Given the description of an element on the screen output the (x, y) to click on. 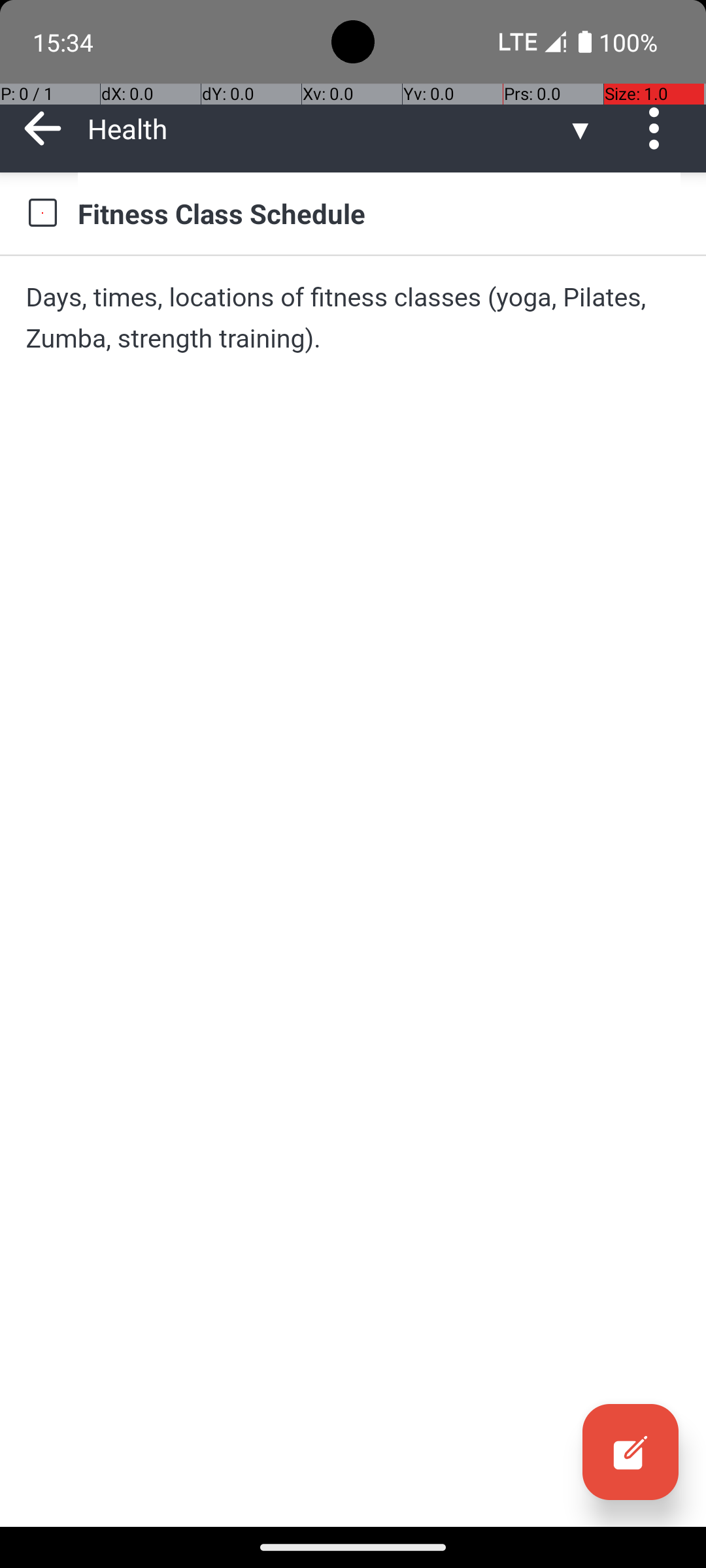
Days, times, locations of fitness classes (yoga, Pilates, Zumba, strength training). Element type: android.widget.TextView (352, 317)
